Given the description of an element on the screen output the (x, y) to click on. 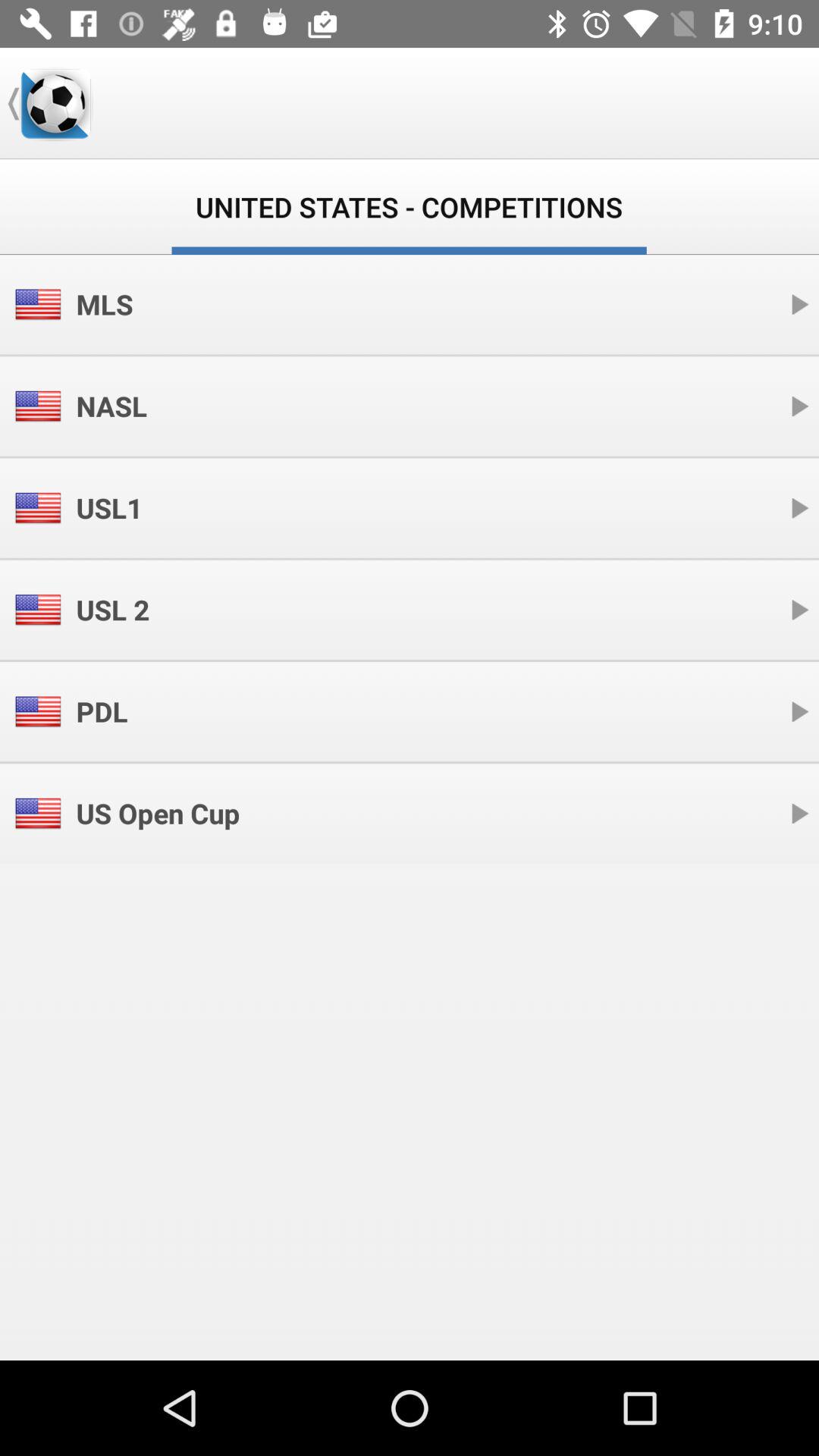
launch item below the usl 2 (101, 711)
